Given the description of an element on the screen output the (x, y) to click on. 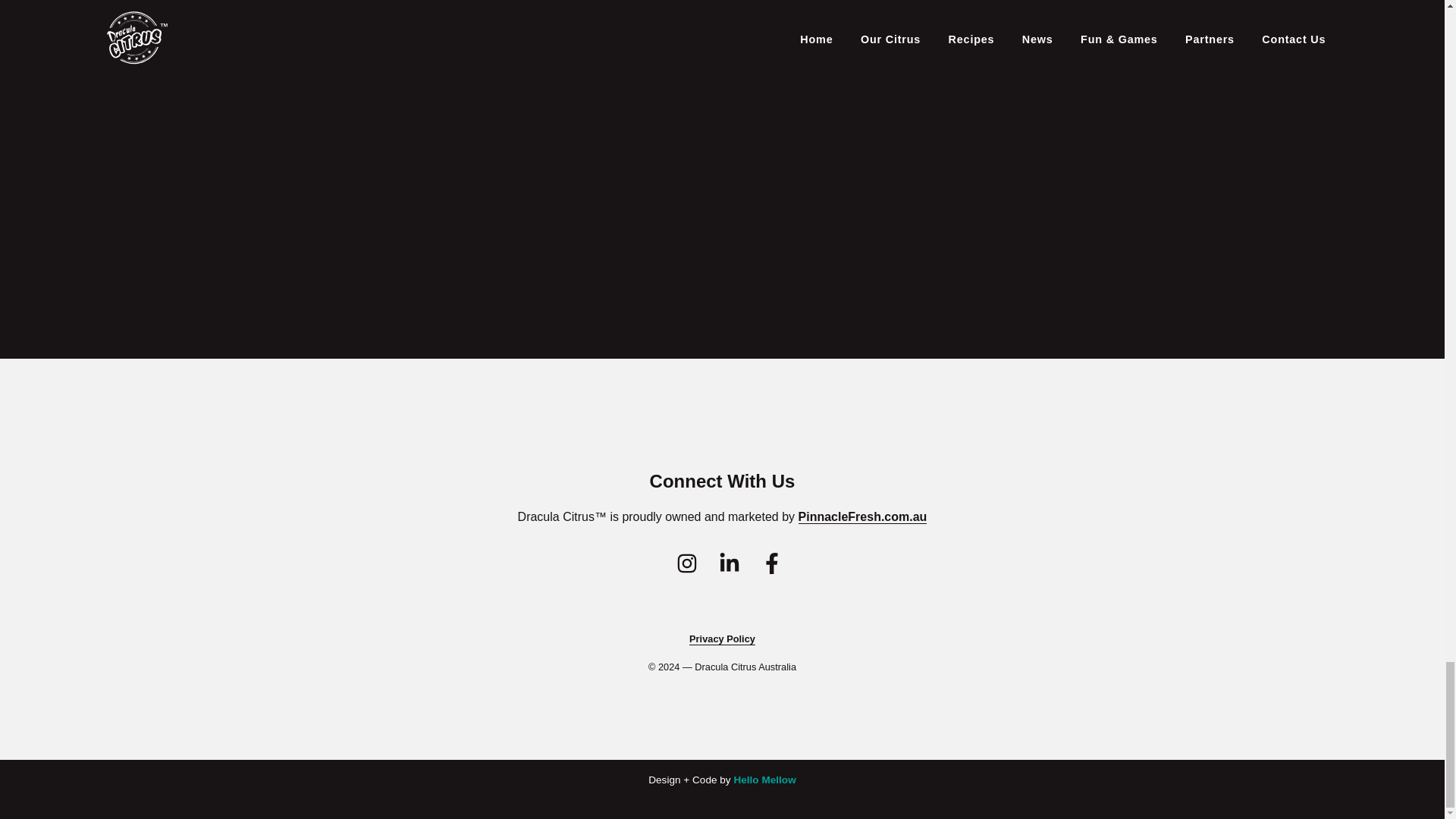
PinnacleFresh.com.au (862, 517)
Privacy Policy (721, 639)
Hello Mellow (763, 780)
